Given the description of an element on the screen output the (x, y) to click on. 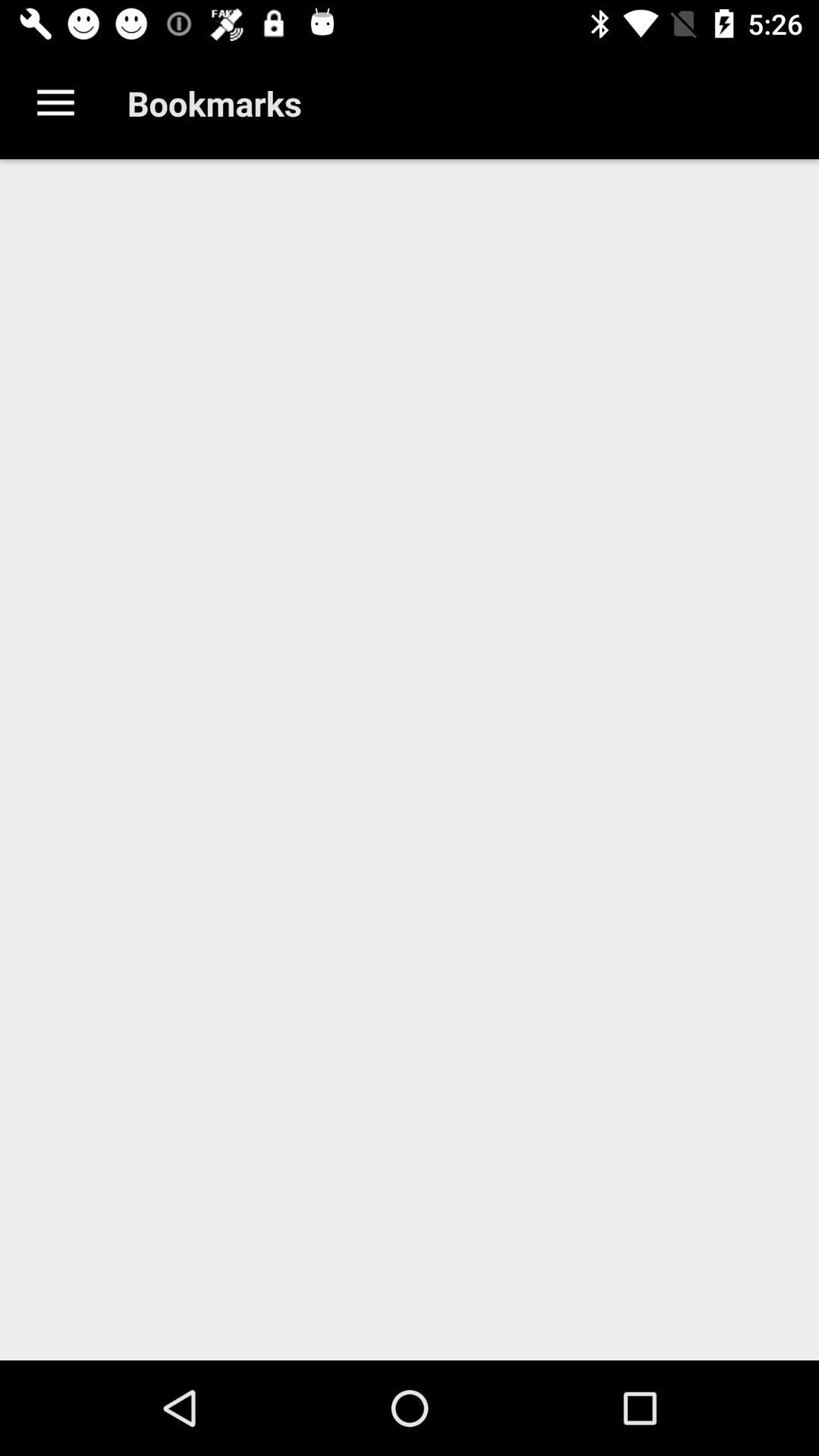
turn on the icon next to bookmarks (55, 103)
